Given the description of an element on the screen output the (x, y) to click on. 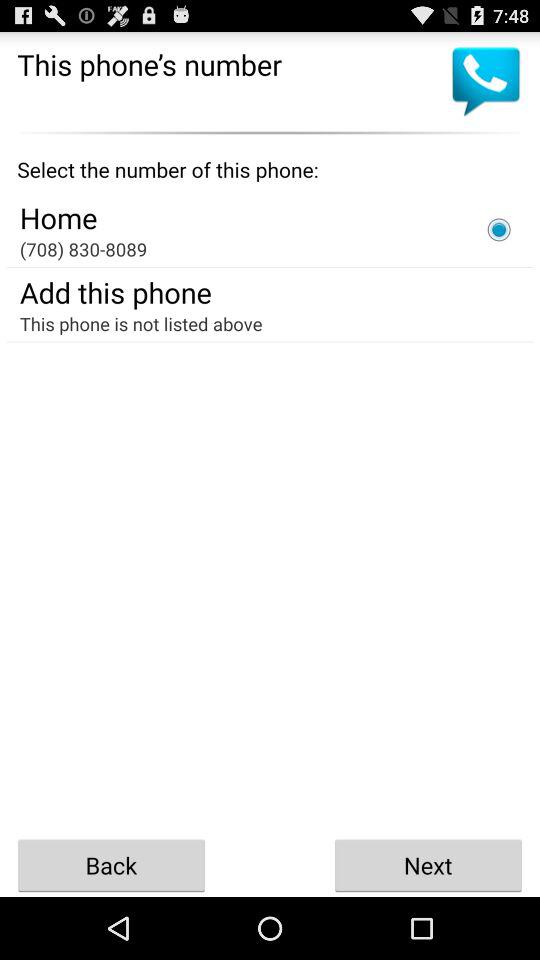
home button (499, 229)
